Given the description of an element on the screen output the (x, y) to click on. 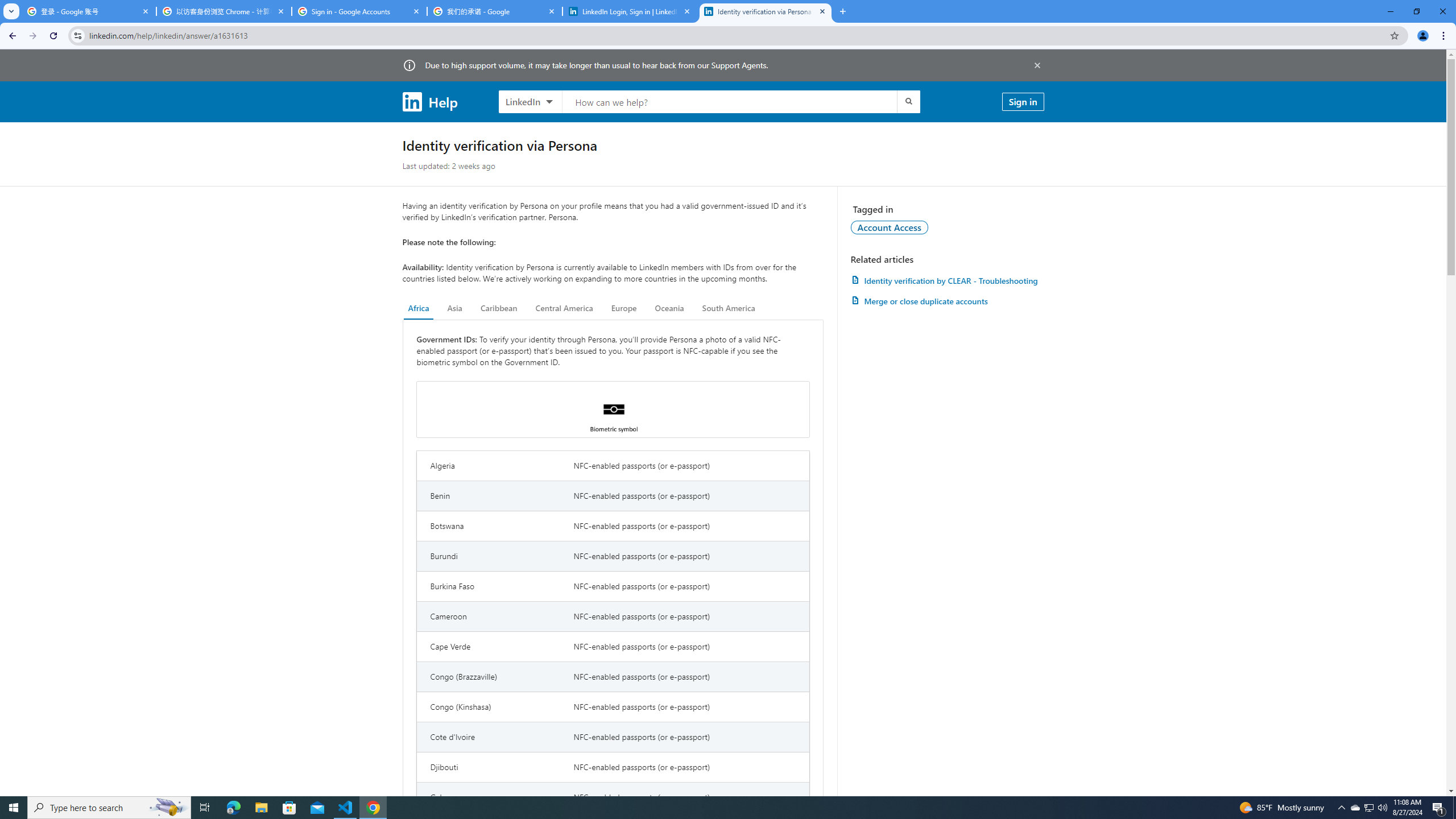
Biometric symbol (612, 409)
AutomationID: article-link-a1457505 (946, 280)
LinkedIn products to search, LinkedIn selected (530, 101)
Submit search (908, 101)
Sign in - Google Accounts (359, 11)
